Given the description of an element on the screen output the (x, y) to click on. 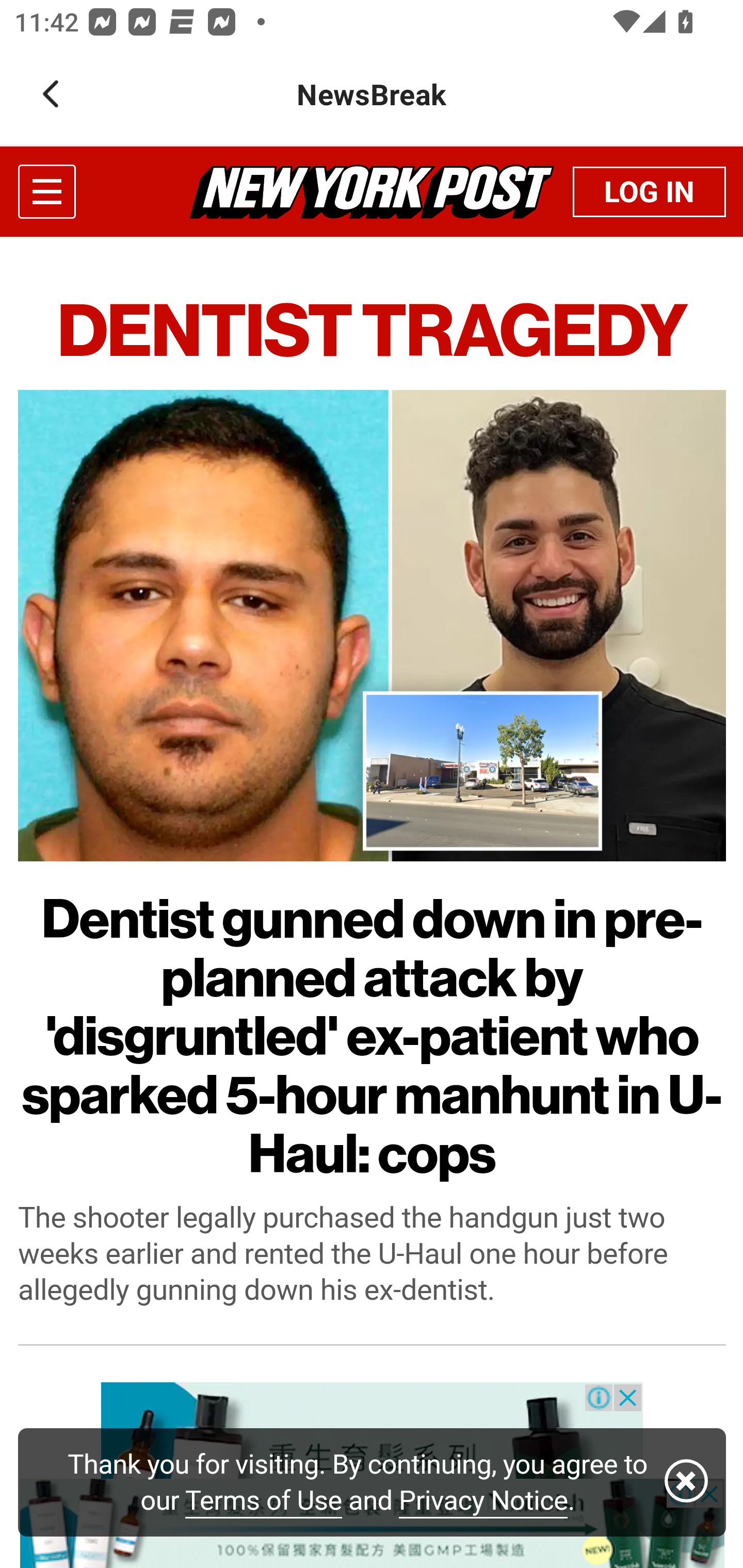
Navigate up (50, 93)
Primary Menu (46, 190)
New York Post (371, 190)
LOG IN (648, 190)
Terms of Use (263, 1501)
Privacy Notice (482, 1501)
